Given the description of an element on the screen output the (x, y) to click on. 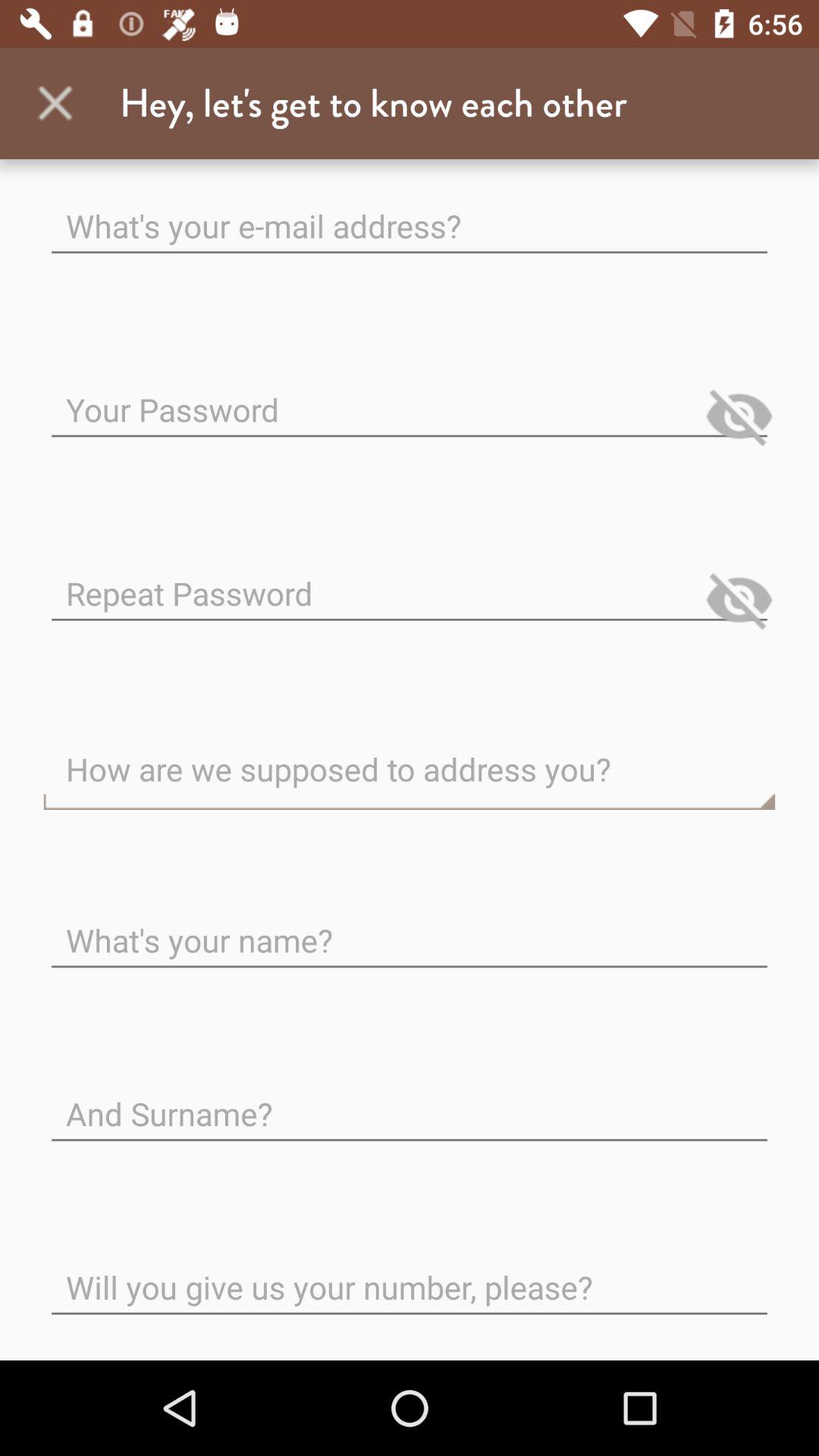
hidden or unhidden button (739, 416)
